Given the description of an element on the screen output the (x, y) to click on. 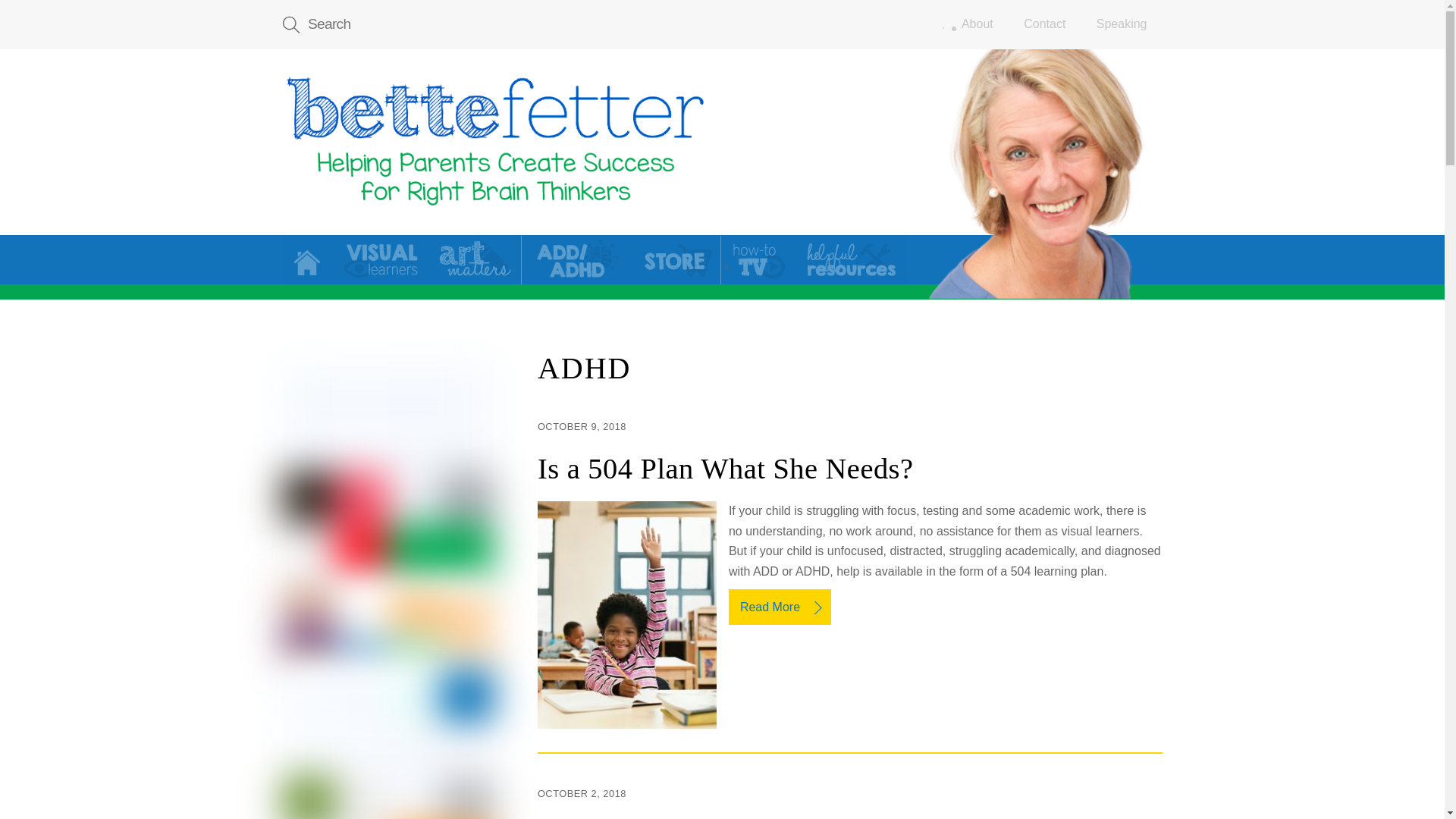
Speaking (1121, 24)
Is a 504 Plan What She Needs? (1044, 173)
Is a 504 Plan What She Needs? (494, 142)
About (977, 24)
Search (494, 24)
Contact (1044, 24)
About Contact Speaking (1053, 24)
